Given the description of an element on the screen output the (x, y) to click on. 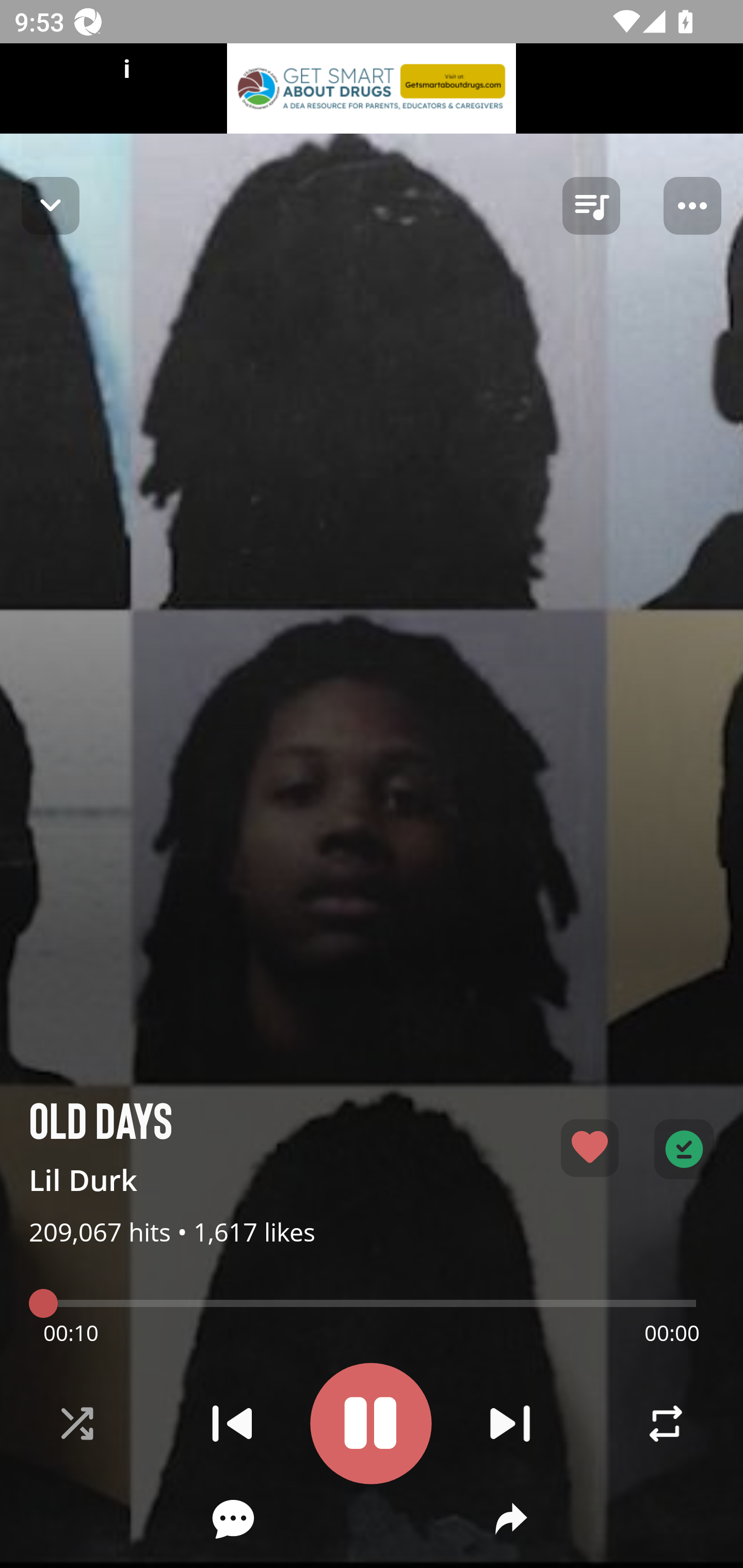
Navigate up (50, 205)
queue (590, 206)
Player options (692, 206)
